Given the description of an element on the screen output the (x, y) to click on. 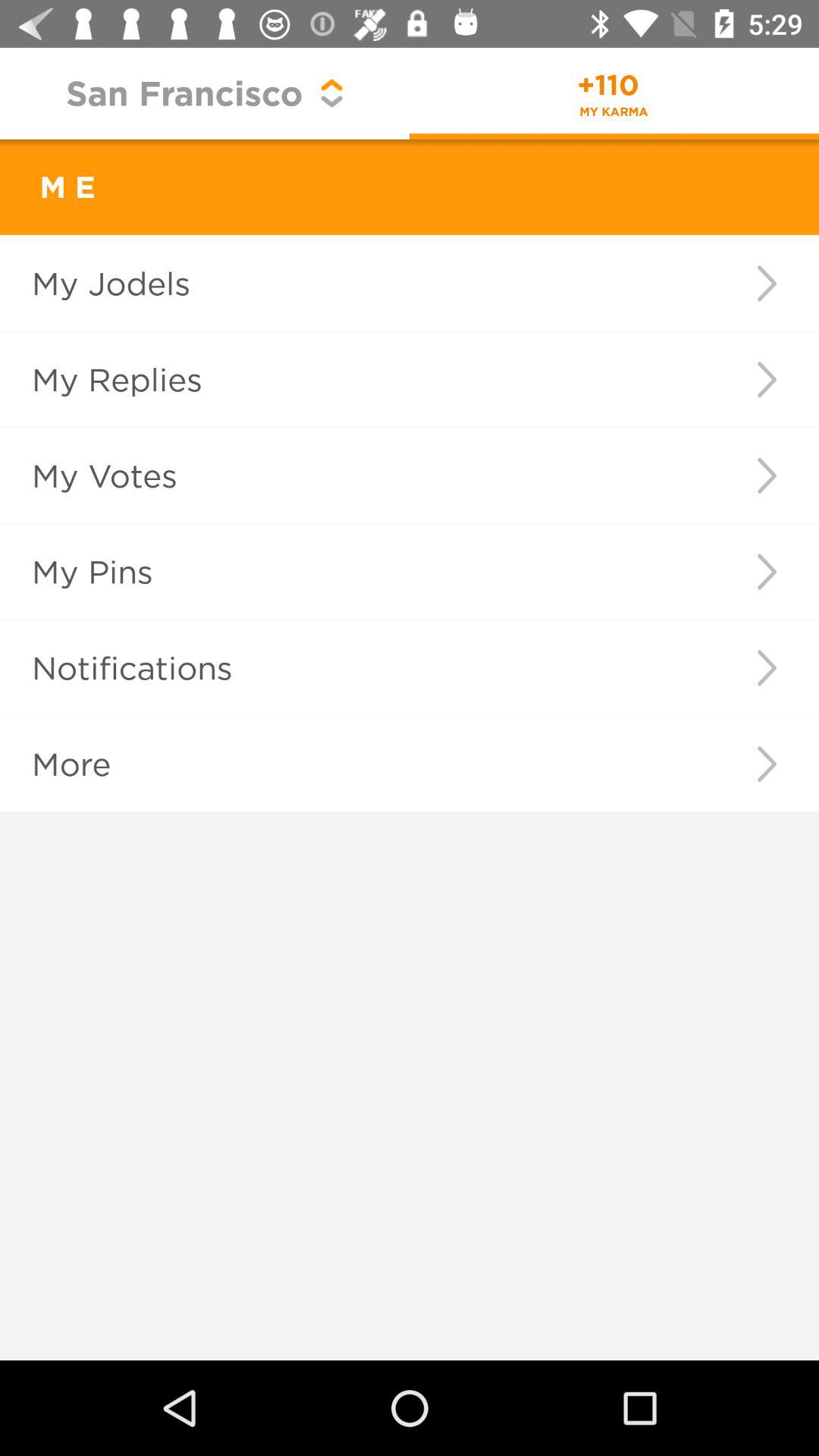
tap item to the right of more (766, 763)
